Given the description of an element on the screen output the (x, y) to click on. 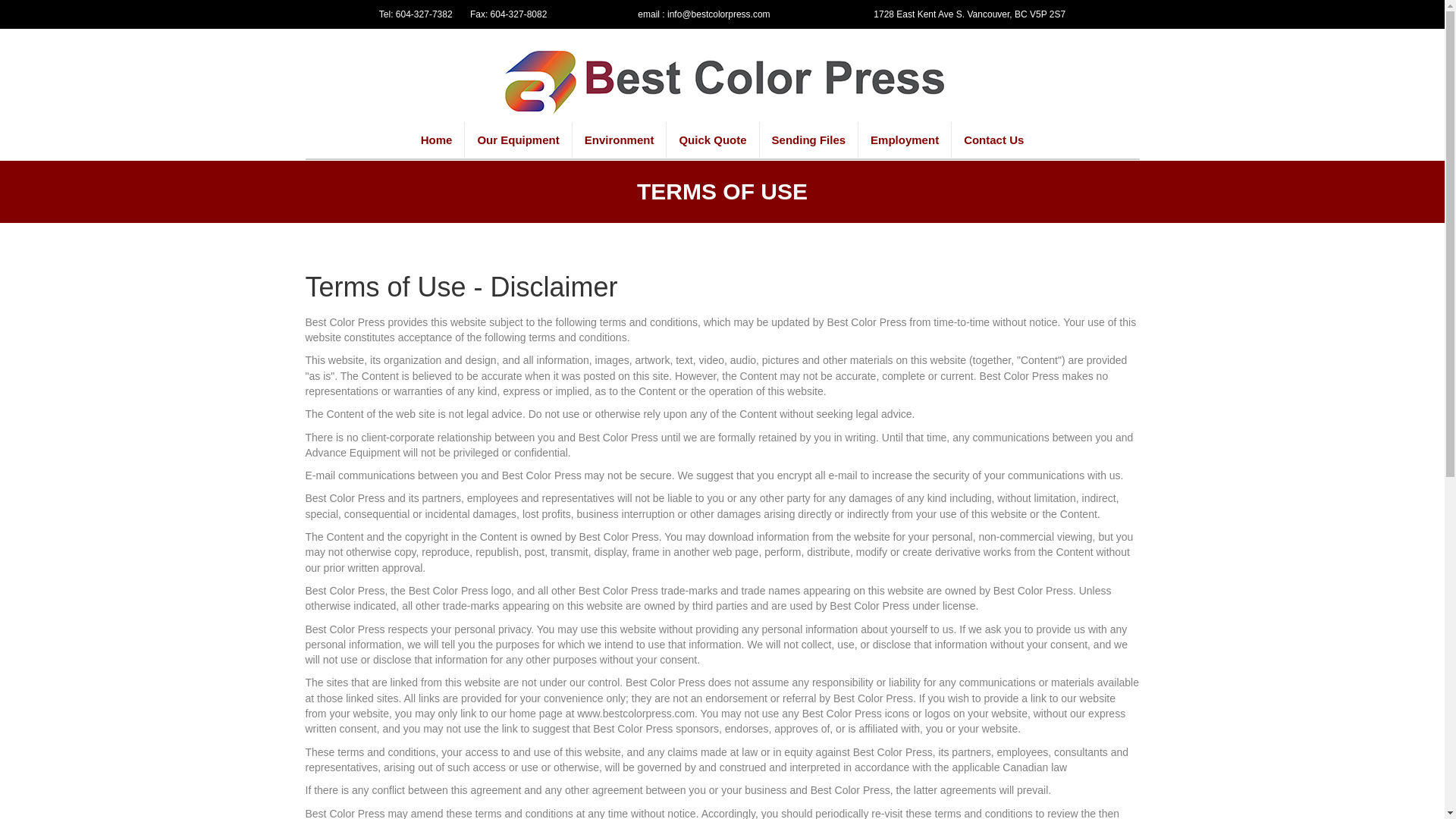
Home (436, 140)
Sending Files (809, 140)
Environment (619, 140)
Bestcolorpress-600px (722, 83)
Quick Quote (712, 140)
Contact Us (993, 140)
Our Equipment (517, 140)
Employment (904, 140)
